Given the description of an element on the screen output the (x, y) to click on. 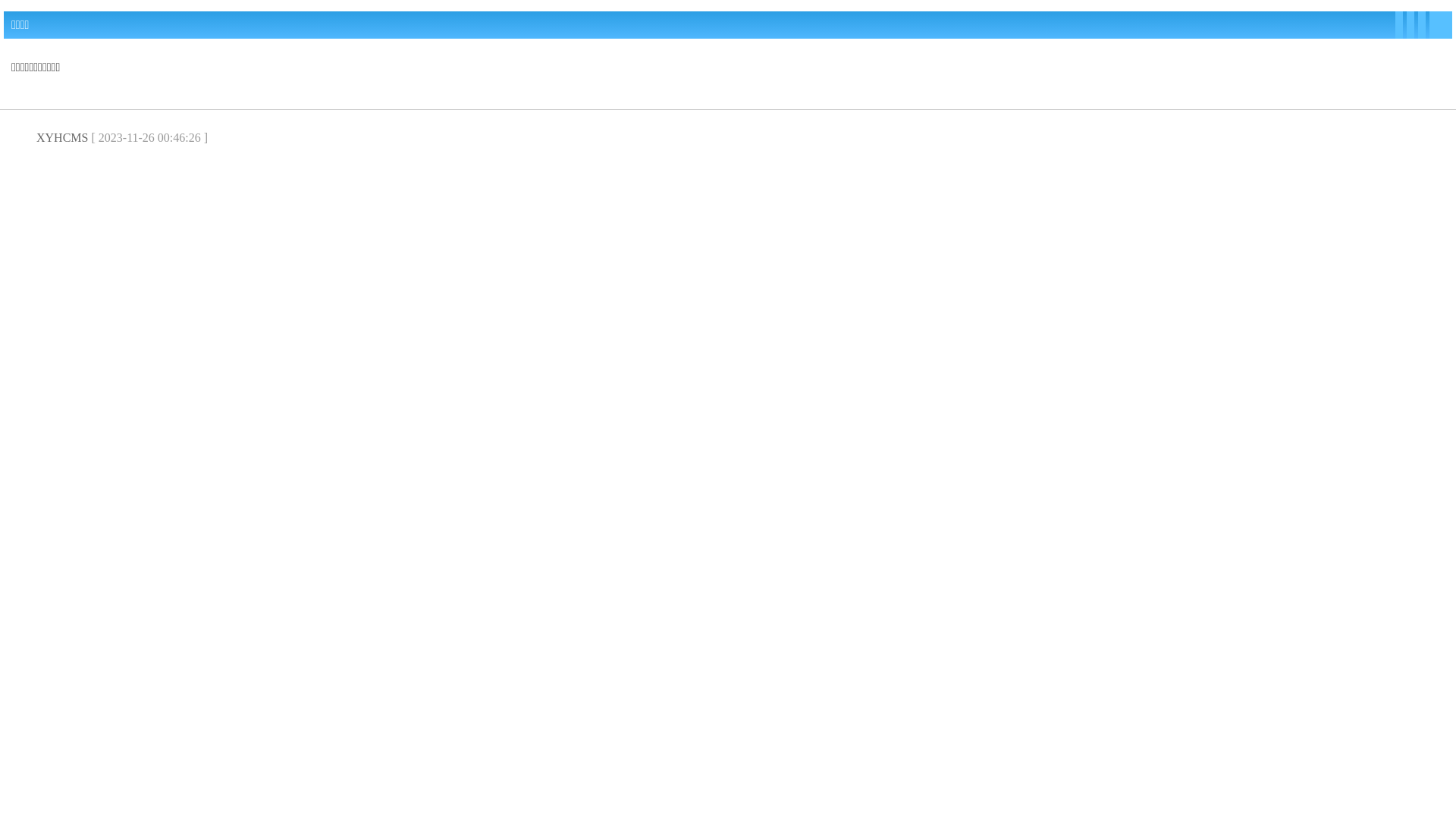
XYHCMS Element type: text (61, 137)
